Given the description of an element on the screen output the (x, y) to click on. 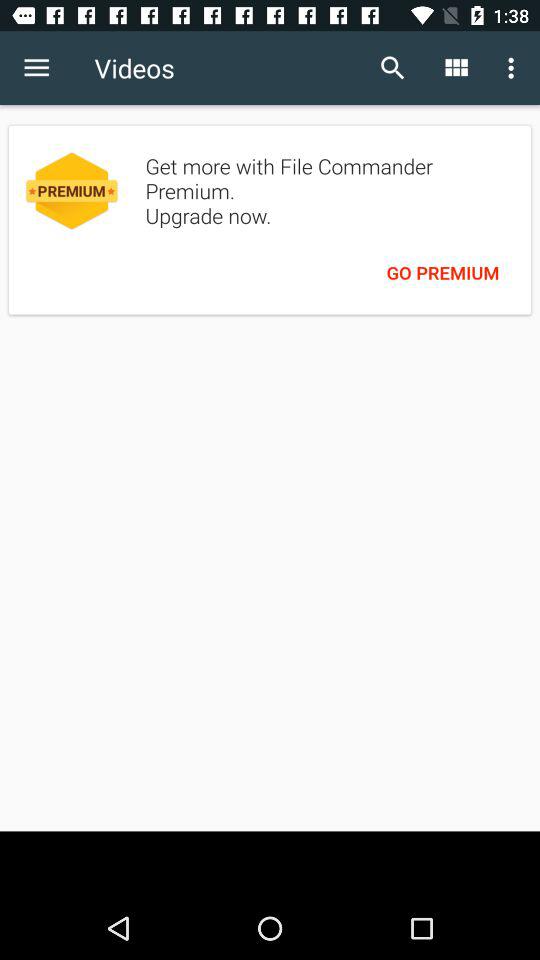
select the icon above get more with (455, 67)
